Given the description of an element on the screen output the (x, y) to click on. 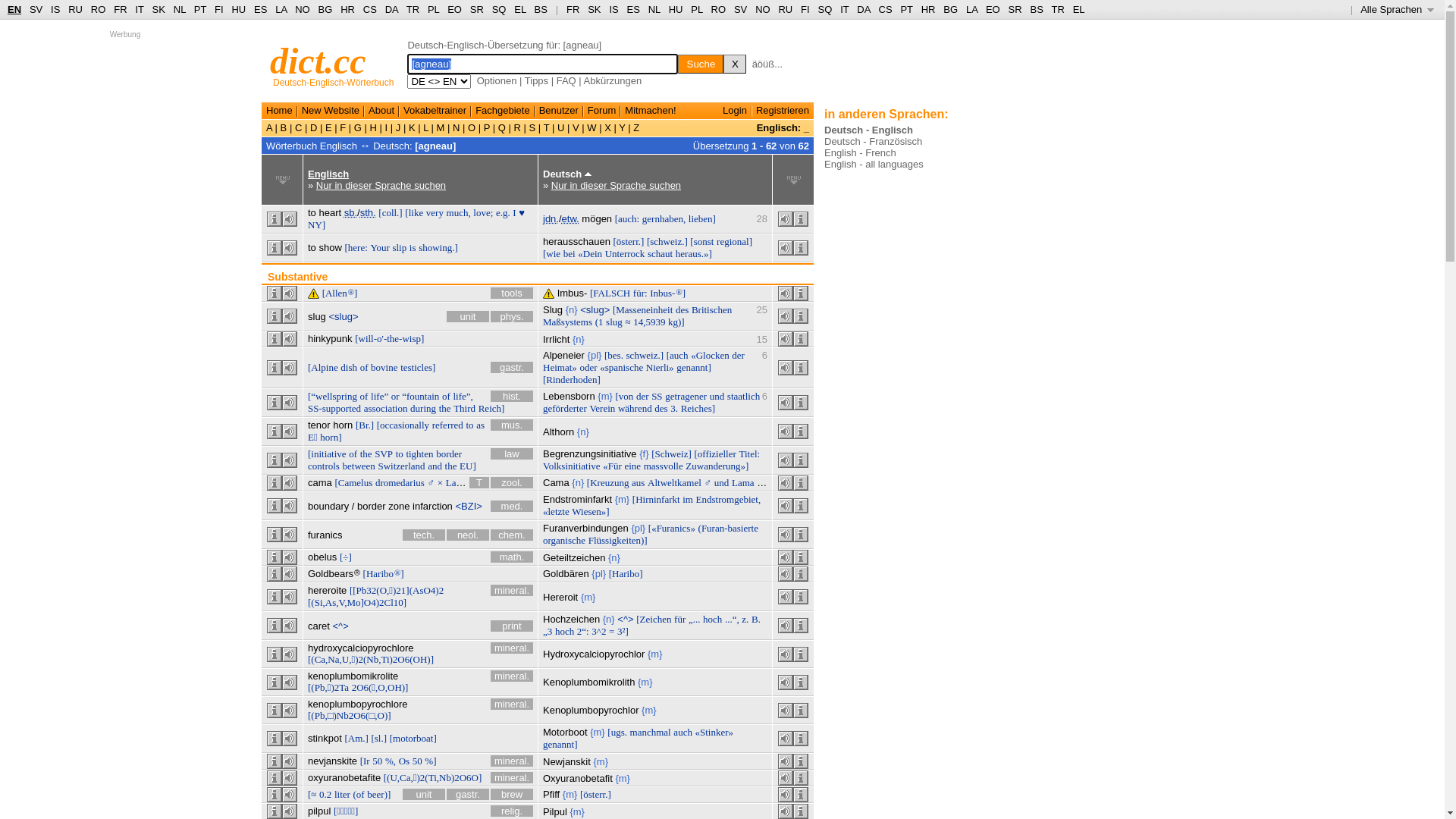
Lebensborn Element type: text (568, 395)
HU Element type: text (675, 9)
sth. Element type: text (368, 212)
jdn. Element type: text (550, 218)
mineral. Element type: text (511, 760)
Benutzer Element type: text (558, 110)
neol. Element type: text (467, 534)
Suche Element type: text (700, 63)
14,5939 Element type: text (649, 321)
Nur in dieser Sprache suchen Element type: text (380, 185)
kg)] Element type: text (676, 321)
%] Element type: text (430, 760)
[bes. Element type: text (613, 354)
SV Element type: text (740, 9)
[Schweiz] Element type: text (671, 453)
Your Element type: text (379, 247)
NO Element type: text (762, 9)
CS Element type: text (369, 9)
tenor Element type: text (318, 424)
[ugs. Element type: text (617, 731)
[will-o'-the-wisp] Element type: text (388, 338)
J Element type: text (397, 127)
liter Element type: text (342, 794)
[Camelus Element type: text (353, 482)
NO Element type: text (302, 9)
staatlich Element type: text (743, 395)
mineral. Element type: text (511, 647)
SK Element type: text (593, 9)
law Element type: text (511, 453)
regional] Element type: text (734, 241)
ES Element type: text (260, 9)
Oxyuranobetafit Element type: text (577, 778)
Imbus- Element type: text (572, 292)
Englisch Element type: text (327, 173)
[coll.] Element type: text (389, 212)
oxyuranobetafite Element type: text (343, 777)
[Rinderhoden] Element type: text (571, 379)
controls Element type: text (323, 465)
hist. Element type: text (511, 395)
and Element type: text (434, 465)
<BZI> Element type: text (468, 505)
etw. Element type: text (570, 218)
massvolle Element type: text (663, 465)
Optionen Element type: text (496, 80)
auch Element type: text (682, 731)
aus Element type: text (637, 482)
Home Element type: text (279, 110)
RU Element type: text (75, 9)
association Element type: text (385, 408)
eine Element type: text (632, 465)
3^2 Element type: text (598, 631)
EO Element type: text (454, 9)
M Element type: text (440, 127)
[wie Element type: text (551, 253)
hinkypunk Element type: text (329, 338)
0.2 Element type: text (325, 794)
Reiches] Element type: text (697, 408)
X Element type: text (734, 63)
CS Element type: text (884, 9)
Titel: Element type: text (748, 453)
Verein Element type: text (602, 408)
EO Element type: text (992, 9)
Alle Sprachen  Element type: text (1397, 9)
New Website Element type: text (330, 110)
IS Element type: text (54, 9)
kenoplumbopyrochlore Element type: text (357, 703)
furanics Element type: text (324, 534)
Pilpul Element type: text (554, 811)
as Element type: text (480, 424)
Forum Element type: text (601, 110)
is Element type: text (412, 247)
Alpeneier Element type: text (563, 354)
tech. Element type: text (423, 534)
Tipps Element type: text (536, 80)
oder Element type: text (587, 367)
[occasionally Element type: text (402, 424)
slip Element type: text (399, 247)
G Element type: text (357, 127)
[motorboat] Element type: text (412, 737)
N Element type: text (455, 127)
IT Element type: text (844, 9)
mineral. Element type: text (511, 590)
or Element type: text (395, 395)
[like Element type: text (413, 212)
D Element type: text (313, 127)
med. Element type: text (511, 505)
much, Element type: text (458, 212)
T Element type: text (479, 482)
NL Element type: text (654, 9)
to Element type: text (399, 453)
SS Element type: text (656, 395)
Hochzeichen Element type: text (570, 618)
caret Element type: text (318, 625)
Deutsch - Englisch Element type: text (868, 129)
E Element type: text (328, 127)
LA Element type: text (971, 9)
Begrenzungsinitiative Element type: text (589, 453)
Third Element type: text (464, 408)
of Element type: text (352, 453)
e.g. Element type: text (502, 212)
relig. Element type: text (511, 810)
SVP Element type: text (383, 453)
<^> Element type: text (340, 625)
FI Element type: text (804, 9)
chem. Element type: text (511, 534)
[Ir Element type: text (365, 760)
Endstromgebiet, Element type: text (728, 499)
referred Element type: text (447, 424)
print Element type: text (511, 625)
infarction Element type: text (432, 505)
slug Element type: text (613, 321)
T Element type: text (546, 127)
slug Element type: text (316, 316)
[Haribo] Element type: text (625, 573)
sb. Element type: text (350, 212)
organische Element type: text (563, 540)
unit Element type: text (423, 794)
FR Element type: text (572, 9)
pilpul Element type: text (318, 810)
HR Element type: text (928, 9)
NL Element type: text (179, 9)
Irrlicht Element type: text (555, 339)
mus. Element type: text (511, 424)
boundary Element type: text (327, 505)
beer)] Element type: text (378, 794)
[sonst Element type: text (701, 241)
PL Element type: text (433, 9)
schweiz.] Element type: text (644, 354)
unit Element type: text (467, 316)
und Element type: text (721, 482)
testicles] Element type: text (417, 367)
gastr. Element type: text (467, 794)
Volksinitiative Element type: text (571, 465)
R Element type: text (517, 127)
phys. Element type: text (511, 316)
ES Element type: text (633, 9)
Vokabeltrainer Element type: text (434, 110)
[offizieller Element type: text (714, 453)
Hydroxycalciopyrochlor Element type: text (593, 653)
Kenoplumbopyrochlor Element type: text (590, 709)
border Element type: text (448, 453)
<slug> Element type: text (342, 316)
showing.] Element type: text (438, 247)
Switzerland Element type: text (400, 465)
Q Element type: text (501, 127)
X Element type: text (608, 127)
BS Element type: text (540, 9)
[initiative Element type: text (326, 453)
brew Element type: text (511, 794)
TR Element type: text (1057, 9)
50 Element type: text (417, 760)
the Element type: text (445, 408)
PT Element type: text (906, 9)
lieben] Element type: text (701, 218)
math. Element type: text (511, 556)
herausschauen Element type: text (576, 241)
FAQ Element type: text (566, 80)
C Element type: text (297, 127)
O Element type: text (470, 127)
DA Element type: text (862, 9)
HR Element type: text (347, 9)
[Br.] Element type: text (364, 424)
Registrieren Element type: text (782, 110)
FI Element type: text (218, 9)
hoch Element type: text (711, 618)
zool. Element type: text (511, 482)
genannt] Element type: text (693, 367)
cama Element type: text (319, 482)
PL Element type: text (696, 9)
W Element type: text (591, 127)
genannt] Element type: text (559, 743)
S Element type: text (532, 127)
LA Element type: text (280, 9)
heart Element type: text (329, 212)
[Hirninfarkt Element type: text (656, 499)
50 Element type: text (377, 760)
EN Element type: text (14, 9)
[sl.] Element type: text (378, 737)
of Element type: text (446, 395)
[Zeichen Element type: text (653, 618)
[FALSCH Element type: text (609, 292)
mineral. Element type: text (511, 777)
A Element type: text (270, 127)
Newjanskit Element type: text (566, 761)
Slug Element type: text (552, 309)
3. Element type: text (673, 408)
show Element type: text (329, 247)
RU Element type: text (785, 9)
[auch Element type: text (677, 354)
between Element type: text (358, 465)
gernhaben, Element type: text (663, 218)
[schweiz.] Element type: text (666, 241)
I Element type: text (386, 127)
%, Element type: text (390, 760)
English - all languages Element type: text (873, 163)
[von Element type: text (624, 395)
Nur in dieser Sprache suchen Element type: text (615, 185)
Pfiff Element type: text (550, 794)
About Element type: text (381, 110)
V Element type: text (575, 127)
love; Element type: text (482, 212)
[agneau] Element type: text (434, 145)
Furanverbindungen Element type: text (585, 527)
mineral. Element type: text (511, 675)
EL Element type: text (1079, 9)
SK Element type: text (158, 9)
dromedarius Element type: text (399, 482)
SS-supported Element type: text (333, 408)
EL Element type: text (519, 9)
[Masseneinheit Element type: text (642, 309)
[Kreuzung Element type: text (607, 482)
very Element type: text (434, 212)
BS Element type: text (1035, 9)
dict.cc Element type: text (317, 60)
Englisch: _ Element type: text (782, 127)
IS Element type: text (613, 9)
des Element type: text (660, 408)
getragener Element type: text (685, 395)
PT Element type: text (200, 9)
obelus Element type: text (321, 556)
the Element type: text (366, 453)
horn] Element type: text (330, 436)
zone Element type: text (398, 505)
K Element type: text (411, 127)
Os Element type: text (403, 760)
[here: Element type: text (355, 247)
nevjanskite Element type: text (332, 760)
Geteiltzeichen Element type: text (573, 557)
mineral. Element type: text (511, 703)
[Alpine Element type: text (322, 367)
SR Element type: text (476, 9)
BG Element type: text (325, 9)
F Element type: text (342, 127)
Login Element type: text (734, 110)
<slug> Element type: text (594, 309)
[Am.] Element type: text (355, 737)
during Element type: text (423, 408)
z. Element type: text (744, 618)
der Element type: text (737, 354)
Althorn Element type: text (558, 431)
manchmal Element type: text (650, 731)
bovine Element type: text (383, 367)
Lama Element type: text (456, 482)
Cama Element type: text (555, 482)
DA Element type: text (391, 9)
P Element type: text (486, 127)
SR Element type: text (1015, 9)
RO Element type: text (98, 9)
NY] Element type: text (316, 224)
English - French Element type: text (860, 152)
Kenoplumbomikrolith Element type: text (588, 681)
im Element type: text (687, 499)
Lama Element type: text (742, 482)
EU] Element type: text (467, 465)
Hereroit Element type: text (559, 596)
kenoplumbomikrolite Element type: text (352, 675)
gastr. Element type: text (511, 367)
IT Element type: text (138, 9)
border Element type: text (371, 505)
stinkpot Element type: text (324, 737)
hereroite Element type: text (326, 590)
HU Element type: text (238, 9)
Endstrominfarkt Element type: text (576, 499)
U Element type: text (560, 127)
SQ Element type: text (499, 9)
L Element type: text (425, 127)
Britischen Element type: text (711, 309)
of Element type: text (364, 395)
the Element type: text (451, 465)
und Element type: text (716, 395)
bei Element type: text (569, 253)
to Element type: text (469, 424)
TR Element type: text (412, 9)
B. Element type: text (755, 618)
Unterrock Element type: text (625, 253)
Fachgebiete Element type: text (502, 110)
Altweltkamel Element type: text (674, 482)
horn Element type: text (342, 424)
tools Element type: text (511, 292)
RO Element type: text (718, 9)
hydroxycalciopyrochlore Element type: text (360, 647)
schaut Element type: text (659, 253)
tighten Element type: text (419, 453)
H Element type: text (373, 127)
of Element type: text (364, 367)
Reich] Element type: text (491, 408)
Y Element type: text (621, 127)
[auch: Element type: text (627, 218)
hoch Element type: text (564, 631)
der Element type: text (642, 395)
SQ Element type: text (824, 9)
FR Element type: text (119, 9)
Motorboot Element type: text (564, 731)
BG Element type: text (950, 9)
Mitmachen! Element type: text (649, 110)
dish Element type: text (348, 367)
B Element type: text (283, 127)
des Element type: text (681, 309)
SV Element type: text (35, 9)
<^> Element type: text (625, 618)
Z Element type: text (635, 127)
